Given the description of an element on the screen output the (x, y) to click on. 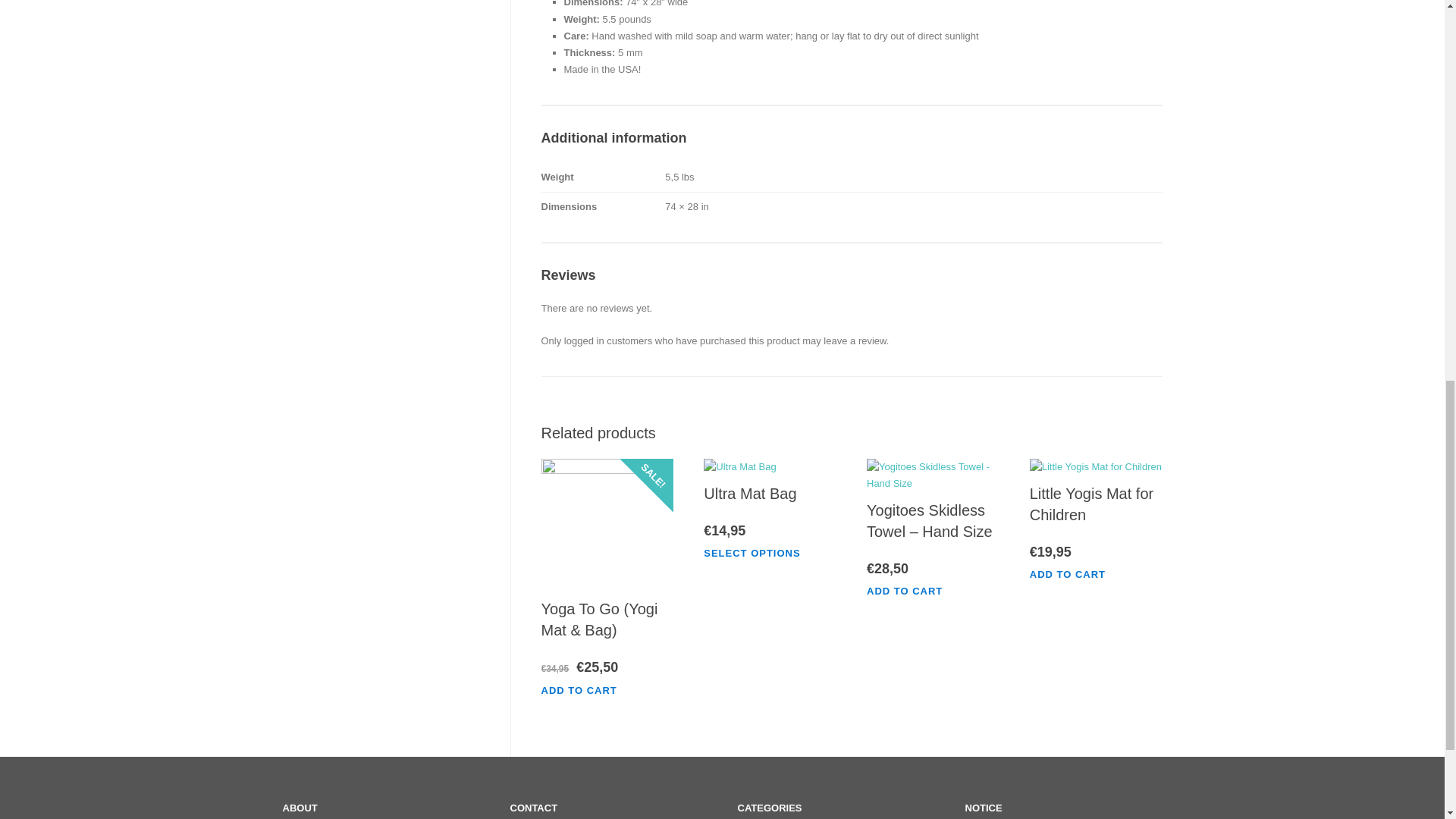
SELECT OPTIONS (759, 552)
ADD TO CART (586, 690)
ADD TO CART (912, 591)
